Given the description of an element on the screen output the (x, y) to click on. 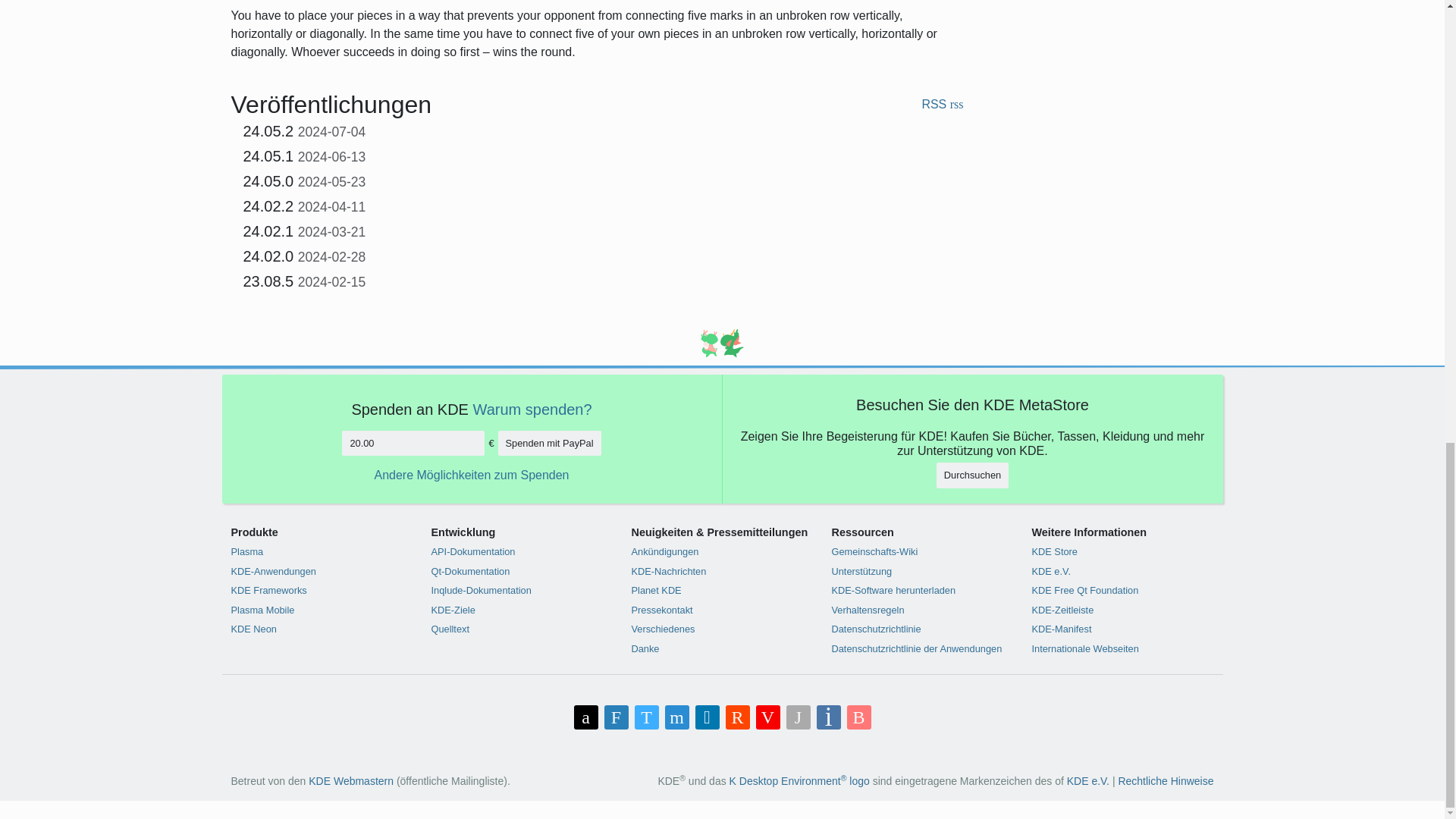
20.00 (413, 442)
